Given the description of an element on the screen output the (x, y) to click on. 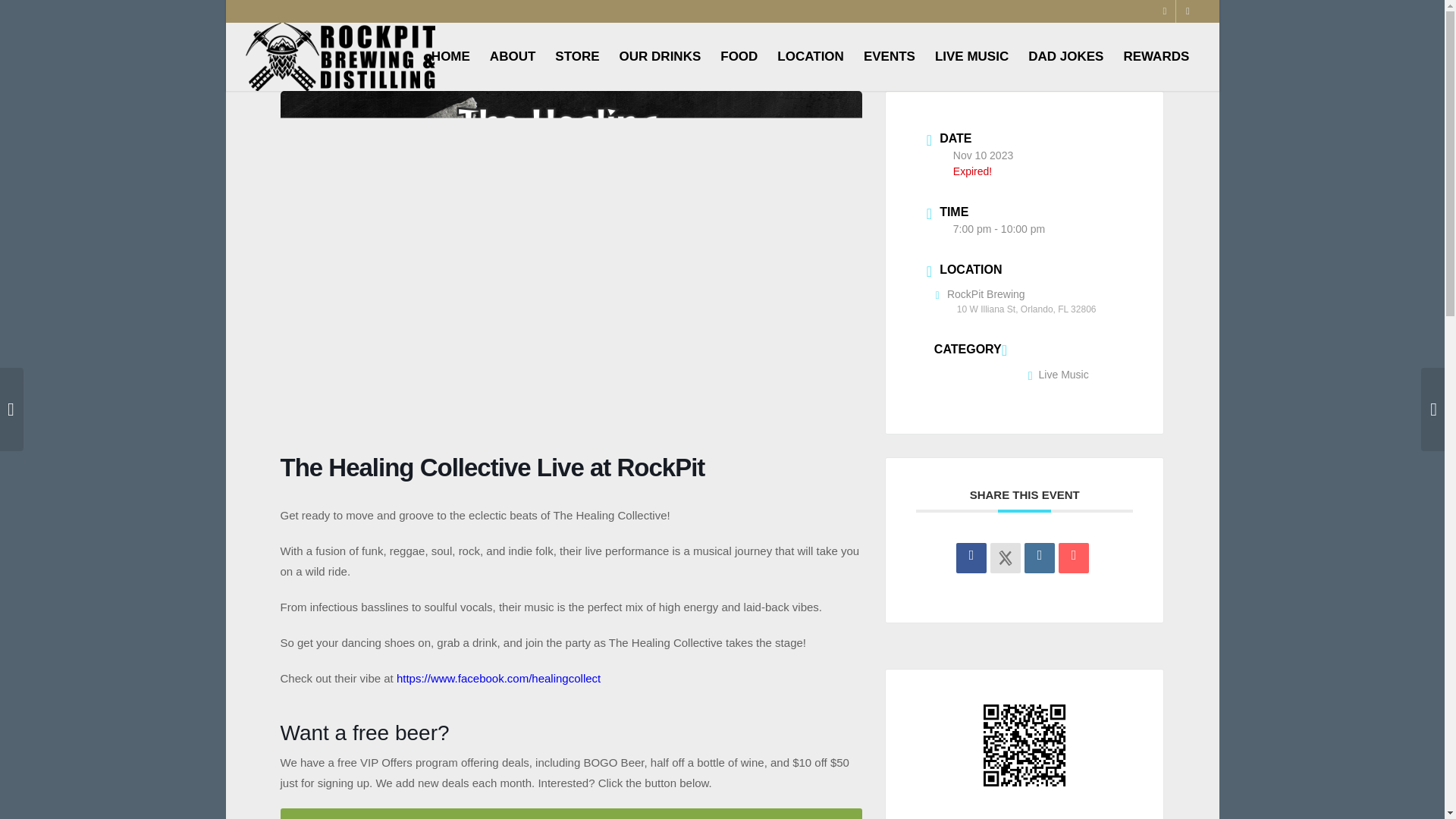
ABOUT (512, 56)
EVENTS (888, 56)
Get My VIP Offers (571, 813)
Share on Facebook (971, 557)
LOCATION (810, 56)
OUR DRINKS (660, 56)
STORE (576, 56)
